Given the description of an element on the screen output the (x, y) to click on. 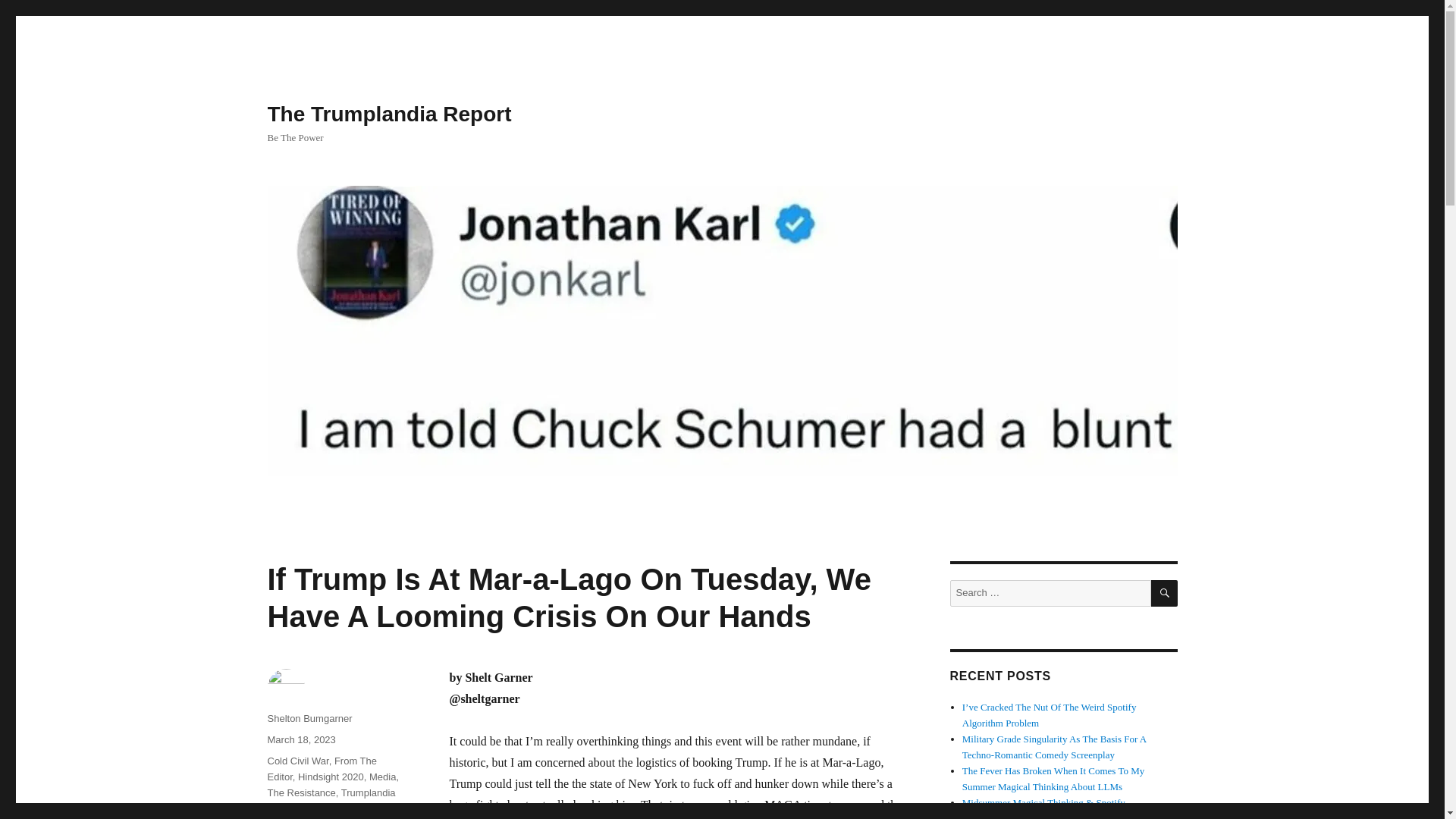
Media (382, 776)
March 18, 2023 (300, 739)
Fuck MAGA Fuck Trump (327, 813)
Hindsight 2020 (331, 776)
Cold Civil War (297, 760)
Shelton Bumgarner (309, 717)
Ok, Maybe Six Novels (1007, 816)
Autocrats Never Lose (313, 813)
Trumplandia (368, 792)
From The Editor (321, 768)
The Trumplandia Report (388, 114)
SEARCH (1164, 592)
The Resistance (300, 792)
